Given the description of an element on the screen output the (x, y) to click on. 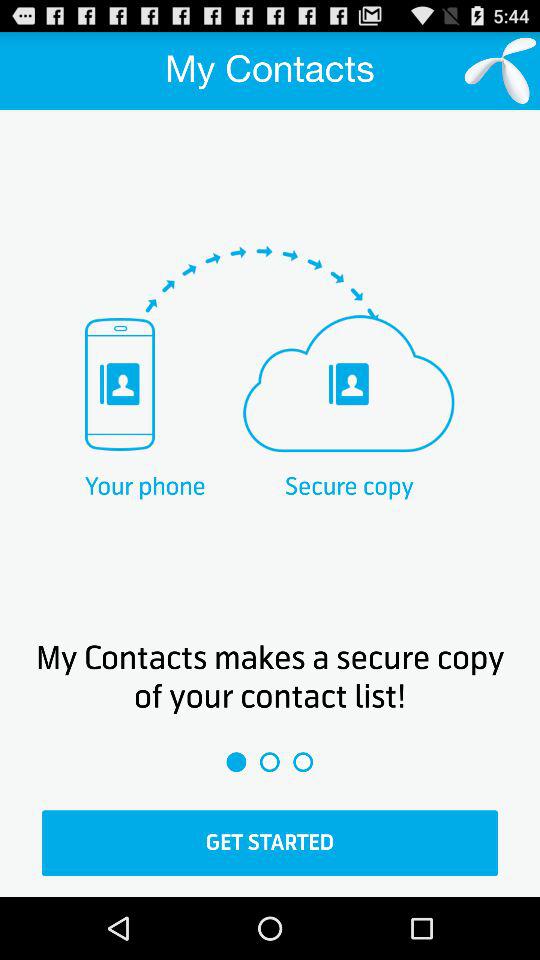
select the icon which is after  my contacts  on page (500, 70)
click the option get started (269, 843)
